Given the description of an element on the screen output the (x, y) to click on. 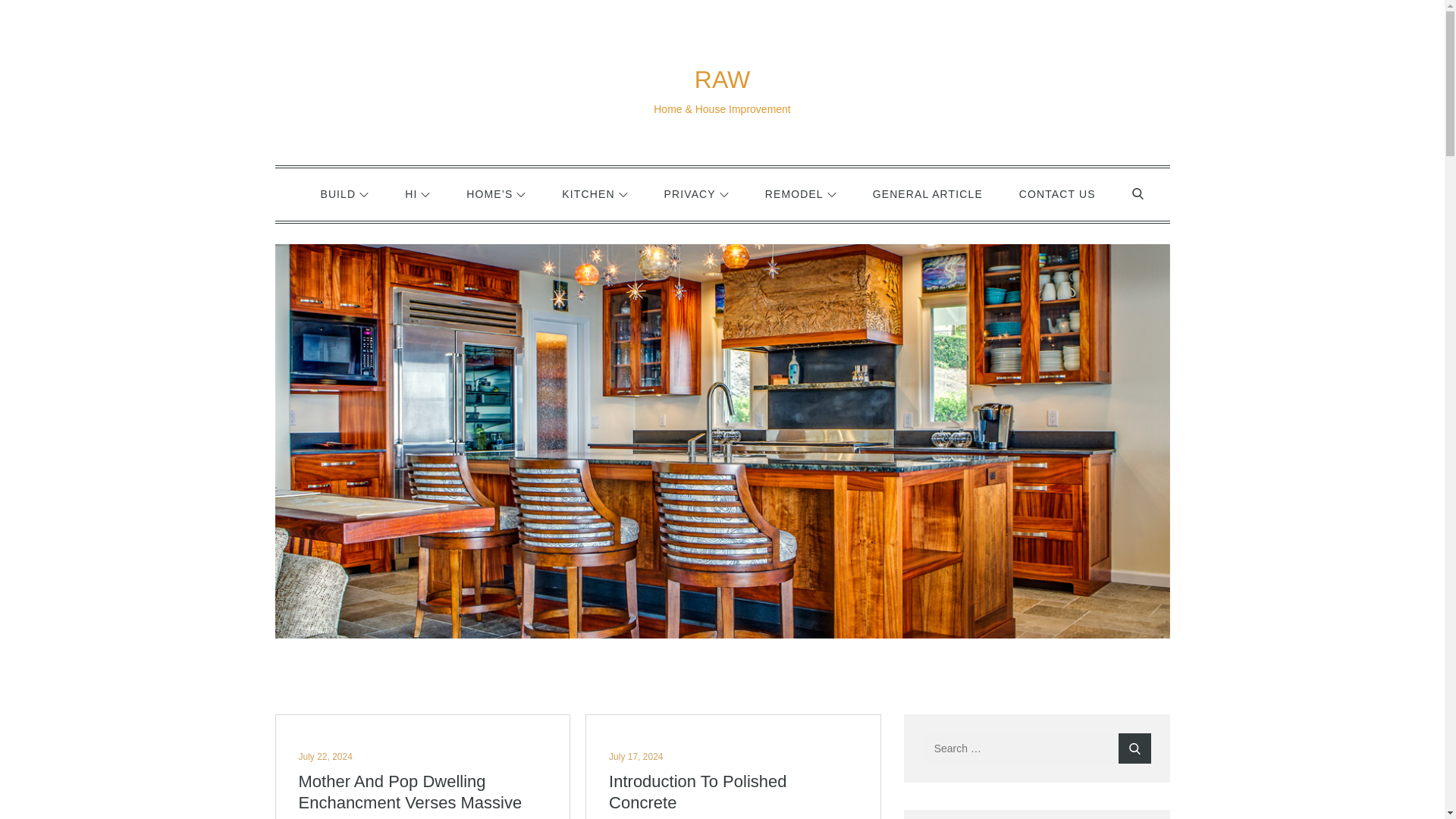
HI (417, 194)
RAW (721, 79)
GENERAL ARTICLE (927, 194)
PRIVACY (696, 194)
BUILD (343, 194)
REMODEL (800, 194)
July 22, 2024 (325, 756)
KITCHEN (593, 194)
CONTACT US (1057, 194)
